Given the description of an element on the screen output the (x, y) to click on. 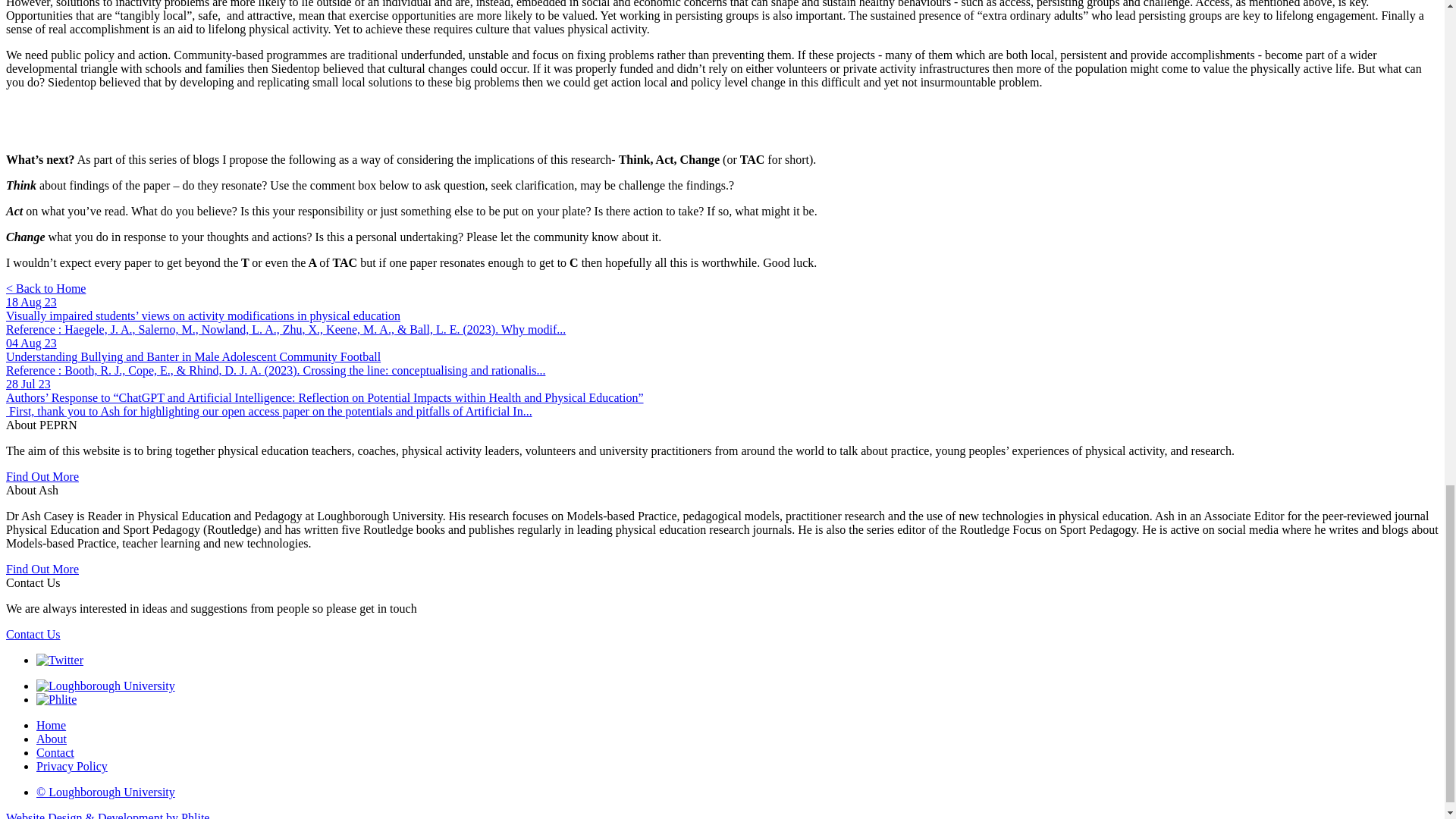
Contact (55, 752)
Find Out More (41, 568)
Contact Us (33, 634)
About (51, 738)
Privacy Policy (71, 766)
Find Out More (41, 476)
Home (50, 725)
